Given the description of an element on the screen output the (x, y) to click on. 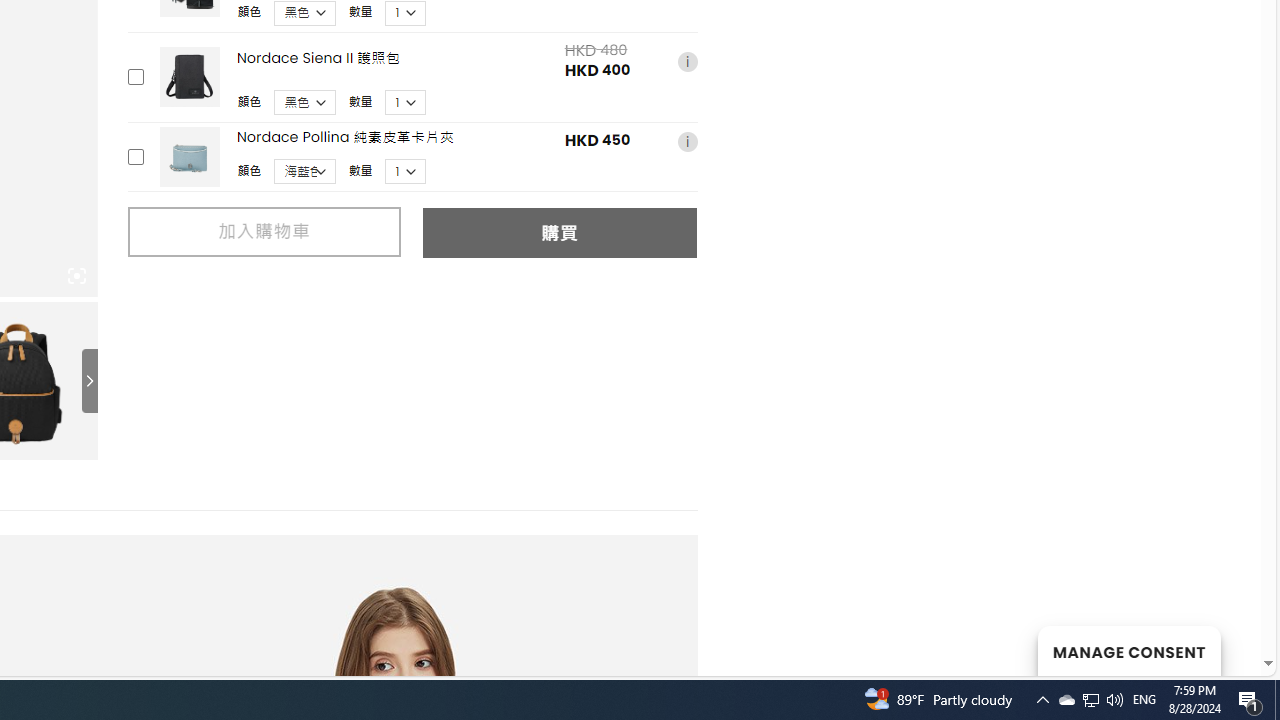
Add this product to cart (134, 156)
Class: iconic-woothumbs-fullscreen (75, 276)
Class: upsell-v2-product-upsell-variable-product-qty-select (406, 172)
MANAGE CONSENT (1128, 650)
i (687, 141)
